Given the description of an element on the screen output the (x, y) to click on. 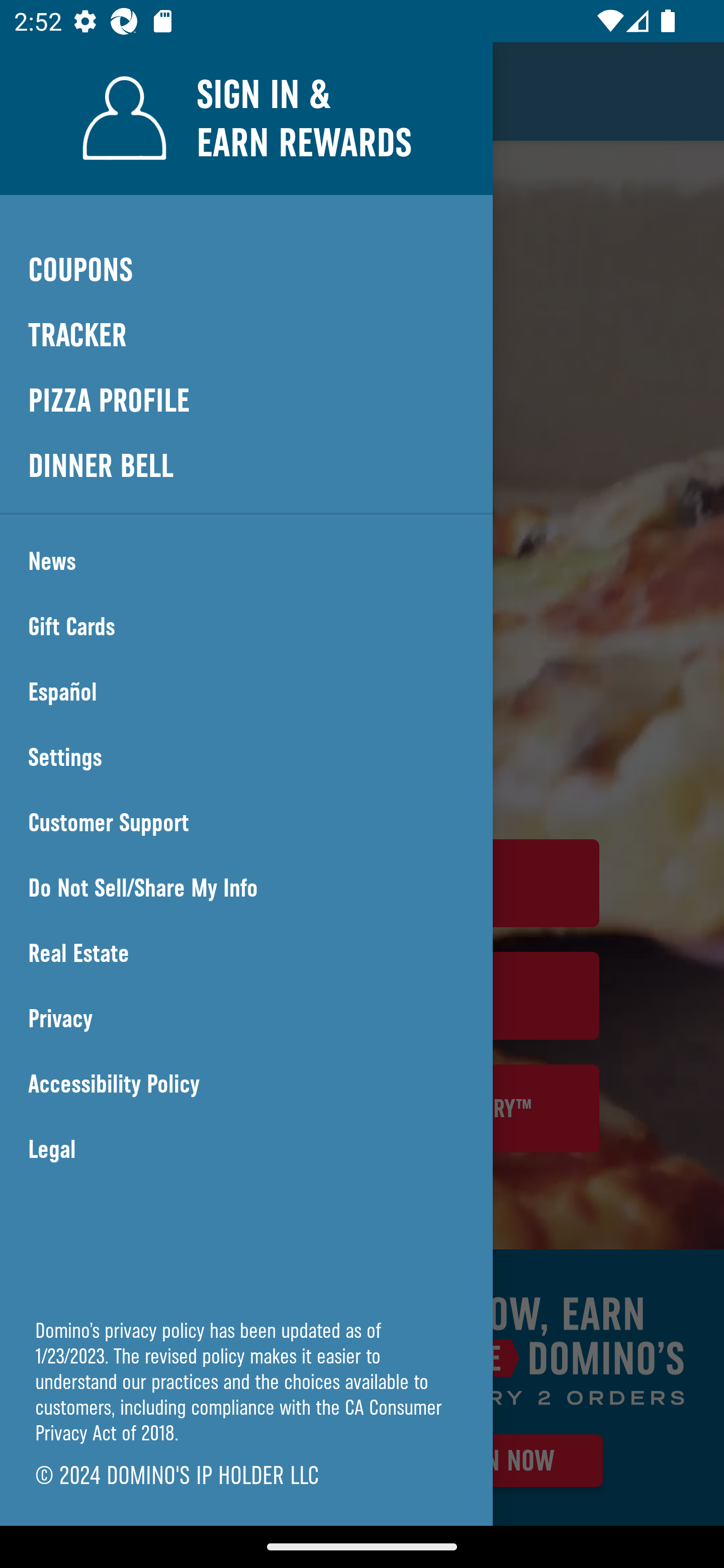
SIGN IN & EARN REWARDS (246, 118)
COUPONS (246, 269)
TRACKER (246, 335)
PIZZA PROFILE (246, 400)
DINNER BELL (246, 465)
News (246, 561)
Gift Cards (246, 627)
Español (246, 692)
Settings (246, 757)
Customer Support (246, 823)
Do Not Sell/Share My Info (246, 888)
Real Estate (246, 953)
Privacy (246, 1019)
Accessibility Policy (246, 1084)
Legal (246, 1149)
